Given the description of an element on the screen output the (x, y) to click on. 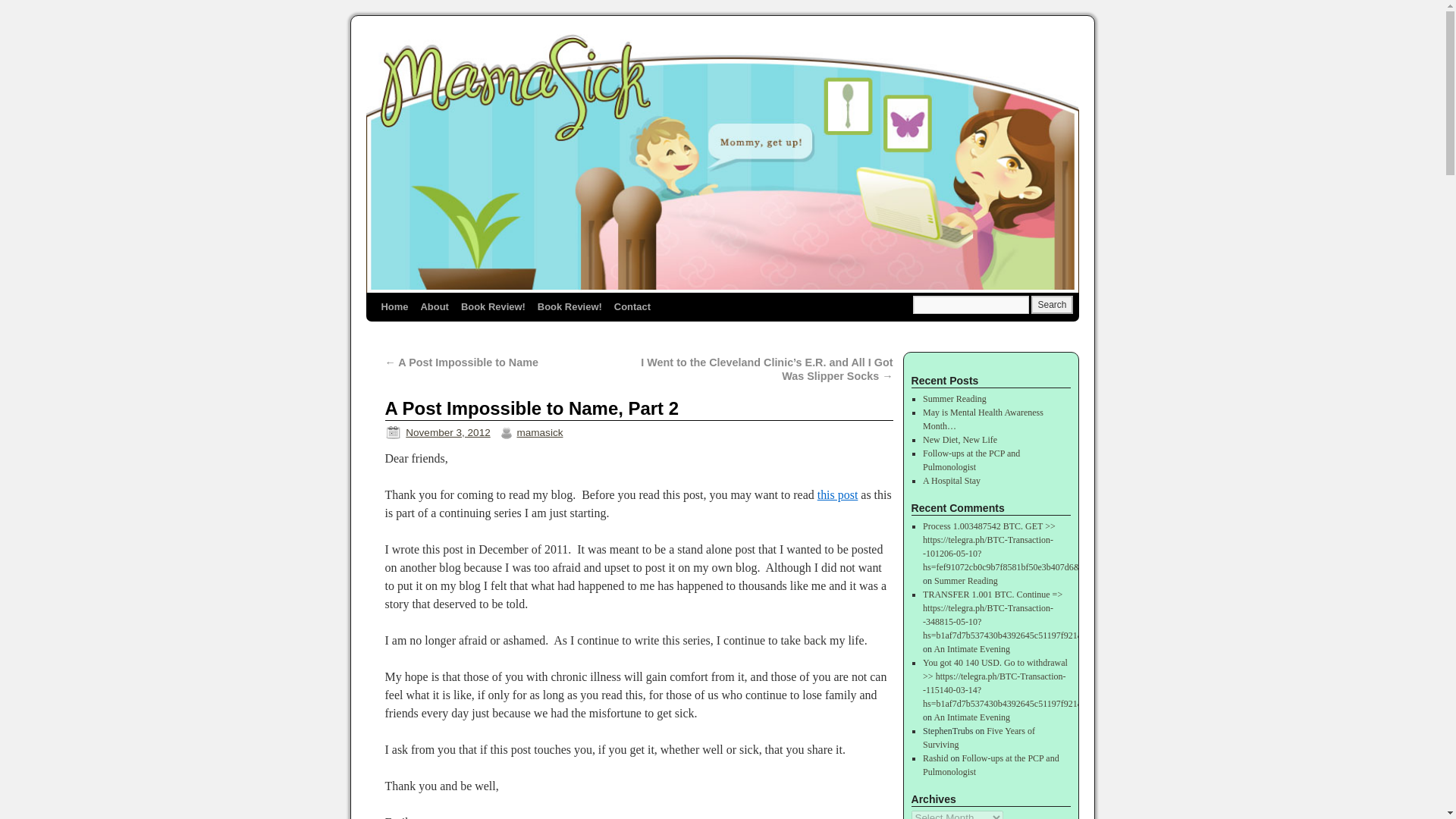
Summer Reading (965, 580)
November 3, 2012 (447, 432)
About (433, 306)
New Diet, New Life (960, 439)
Contact (632, 306)
Search (1050, 304)
A Hospital Stay (951, 480)
Summer Reading (955, 398)
Search (1050, 304)
